Given the description of an element on the screen output the (x, y) to click on. 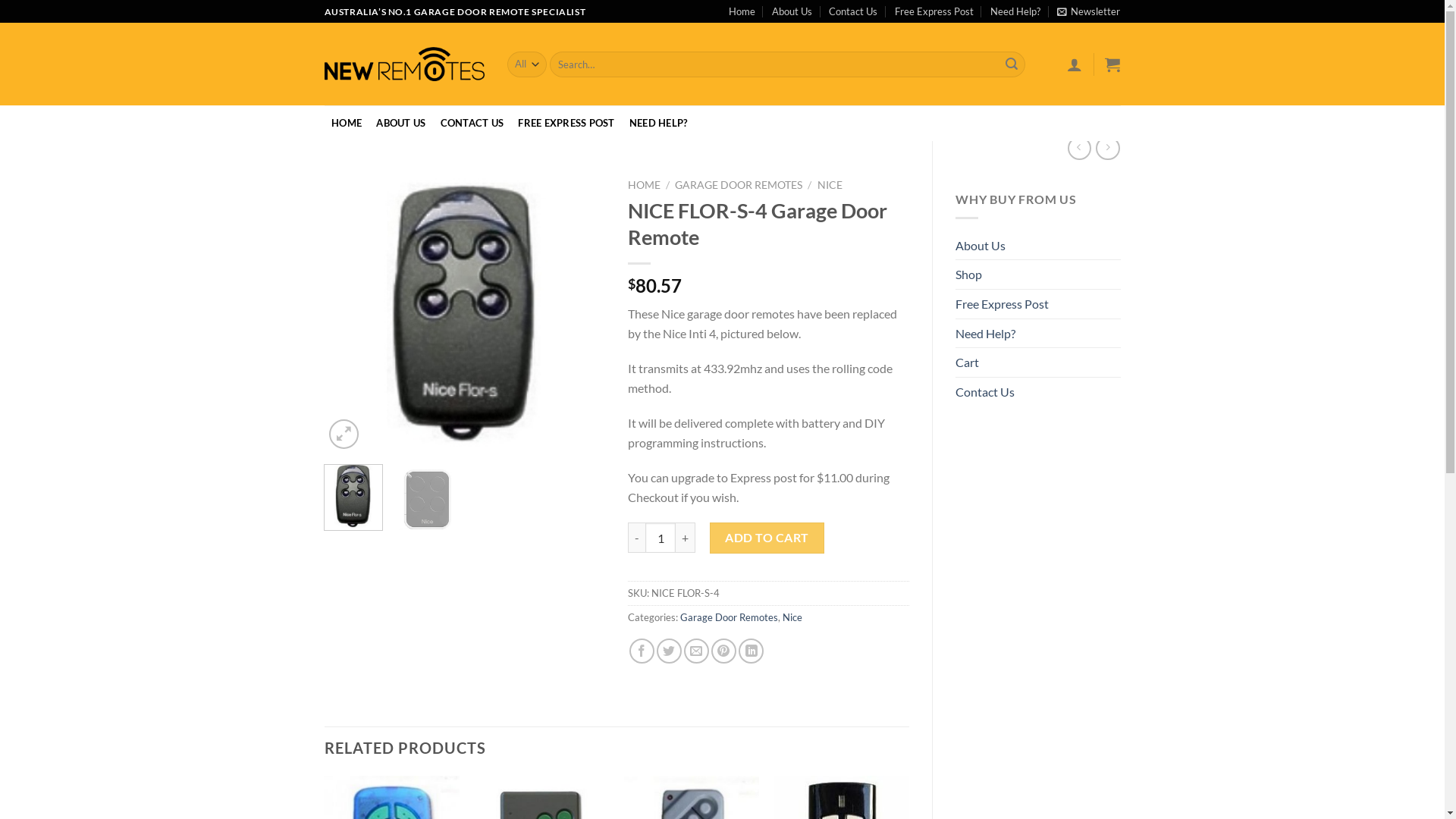
Skip to content Element type: text (0, 0)
GARAGE DOOR REMOTES Element type: text (738, 184)
Need Help? Element type: text (1015, 11)
Contact Us Element type: text (852, 11)
New Remotes - Garage Door Remotes Element type: hover (404, 64)
Garage Door Remotes Element type: text (729, 617)
About Us Element type: text (791, 11)
Search Element type: text (1011, 64)
FREE EXPRESS POST Element type: text (566, 123)
Nice Element type: text (792, 617)
HOME Element type: text (643, 184)
Contact Us Element type: text (984, 391)
Cart Element type: text (967, 362)
NICE Element type: text (829, 184)
NEED HELP? Element type: text (657, 123)
HOME Element type: text (346, 123)
Newsletter Element type: text (1088, 11)
Cart Element type: hover (1112, 64)
Free Express Post Element type: text (933, 11)
Need Help? Element type: text (985, 333)
Qty Element type: hover (660, 537)
Home Element type: text (741, 11)
Shop Element type: text (968, 274)
Free Express Post Element type: text (1001, 303)
nice-flor-s-4-garage-door-remote.jpg Element type: hover (464, 311)
CONTACT US Element type: text (472, 123)
ADD TO CART Element type: text (766, 537)
ABOUT US Element type: text (401, 123)
About Us Element type: text (980, 245)
